Given the description of an element on the screen output the (x, y) to click on. 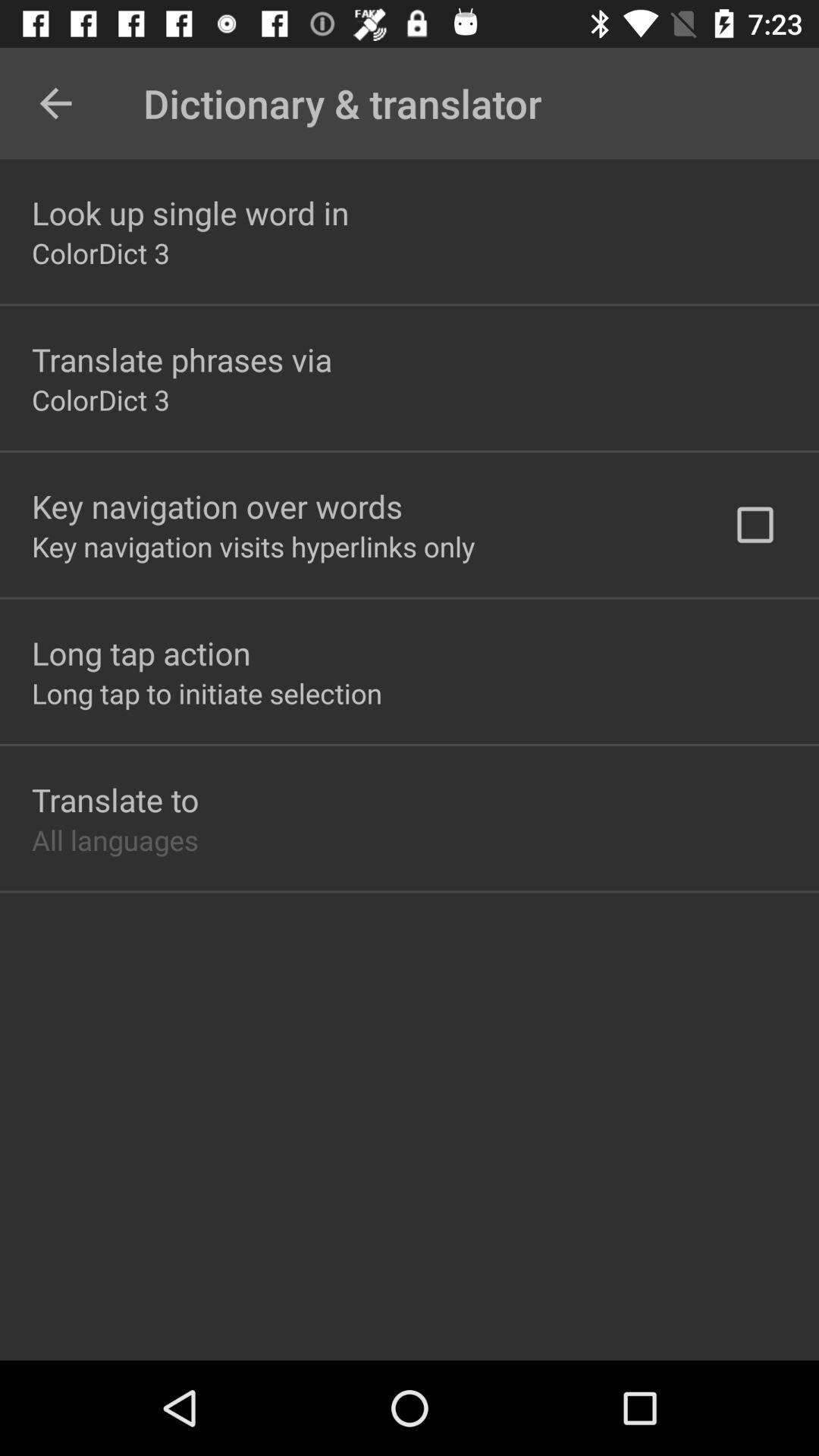
select the item to the right of key navigation visits item (755, 524)
